Given the description of an element on the screen output the (x, y) to click on. 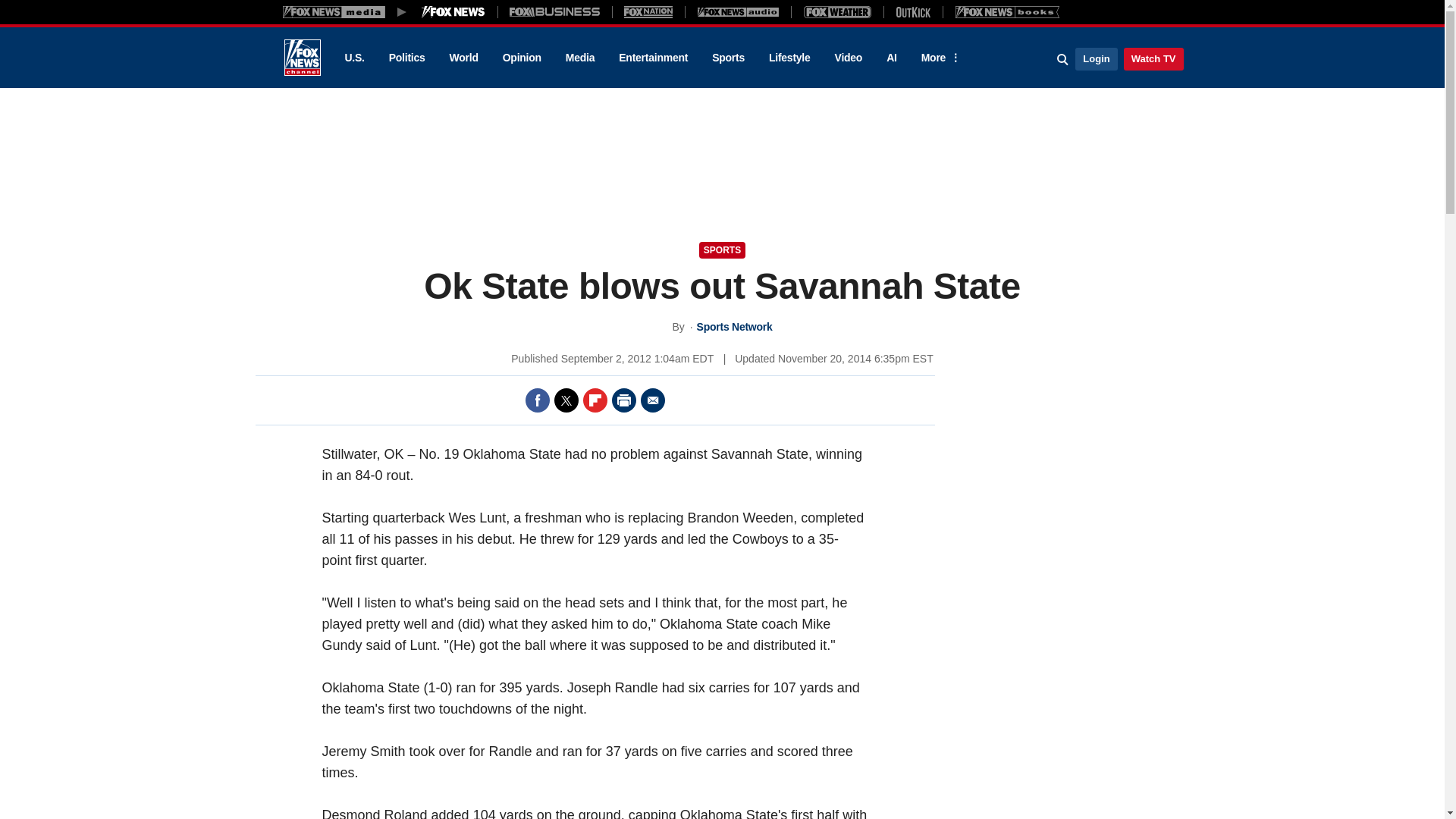
Fox Weather (836, 11)
Entertainment (653, 57)
Watch TV (1153, 58)
Sports (728, 57)
Politics (407, 57)
Fox News Media (453, 11)
AI (891, 57)
Fox Business (554, 11)
World (464, 57)
Login (1095, 58)
Opinion (521, 57)
Video (848, 57)
U.S. (353, 57)
Fox News (301, 57)
Outkick (912, 11)
